Given the description of an element on the screen output the (x, y) to click on. 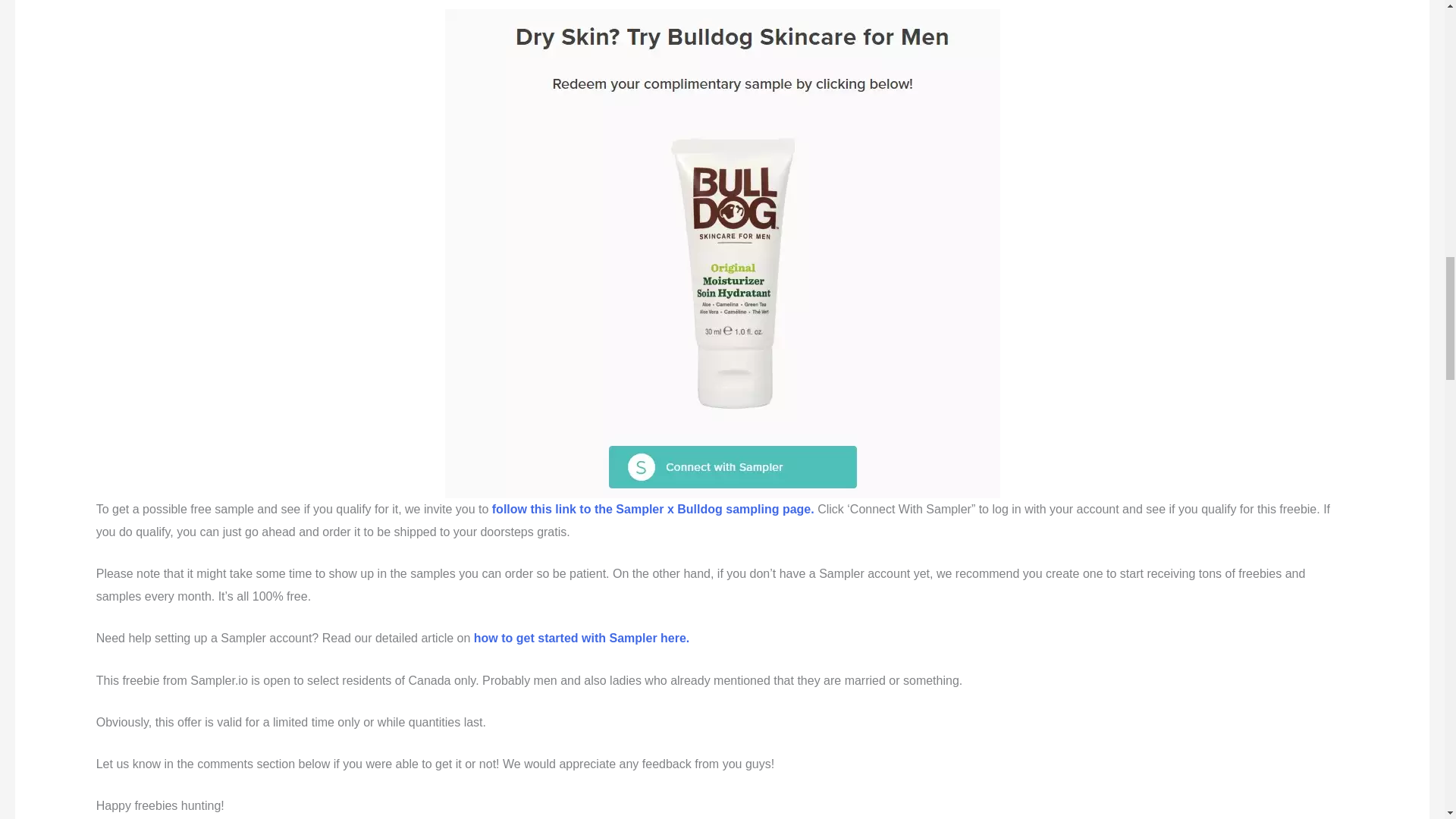
follow this link to the Sampler x Bulldog sampling page. (652, 508)
how to get started with Sampler here. (582, 637)
